Given the description of an element on the screen output the (x, y) to click on. 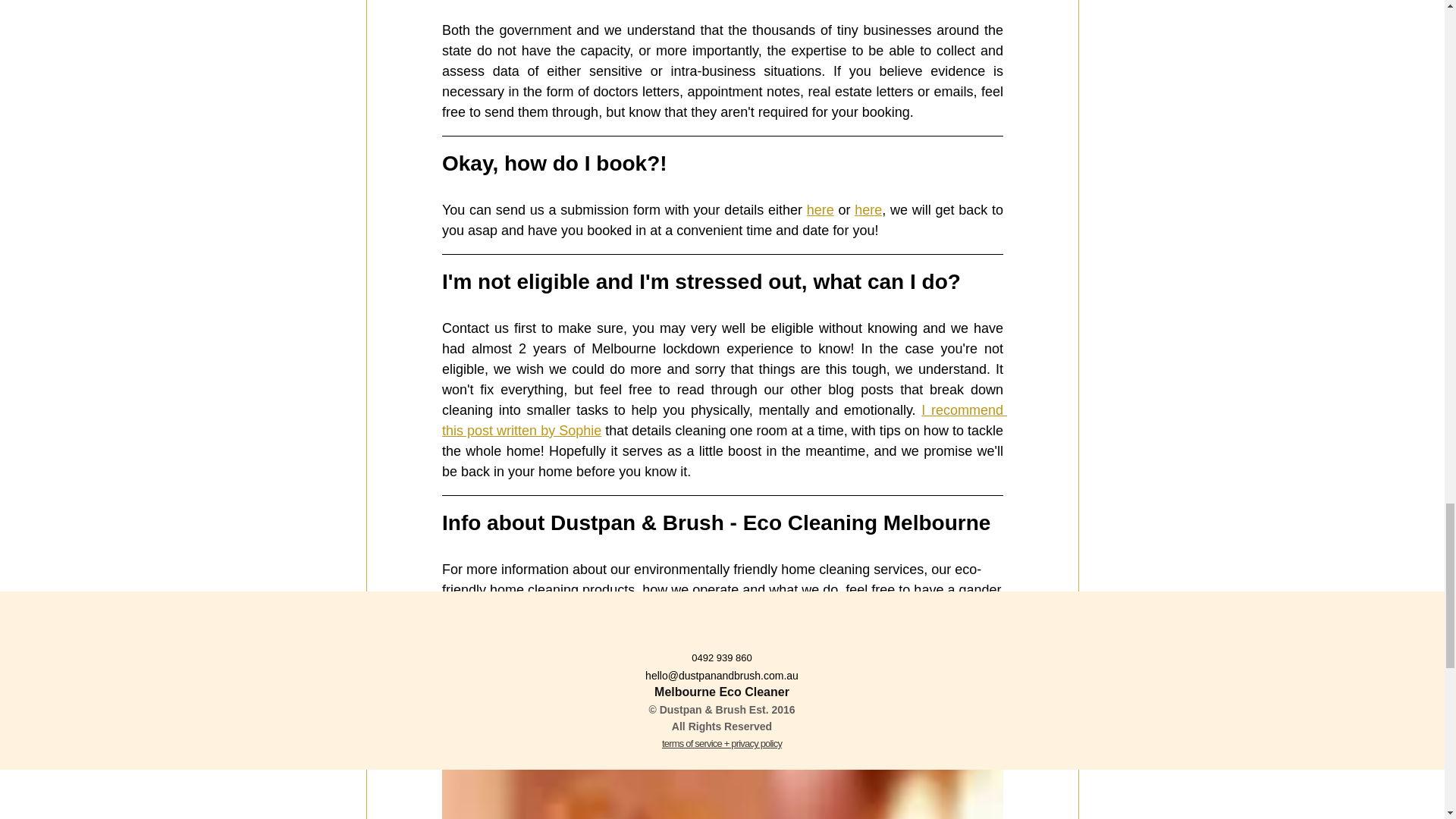
here (868, 209)
website (567, 610)
here (819, 209)
0492 939 860 (721, 665)
I recommend this post written by Sophie (723, 420)
